Given the description of an element on the screen output the (x, y) to click on. 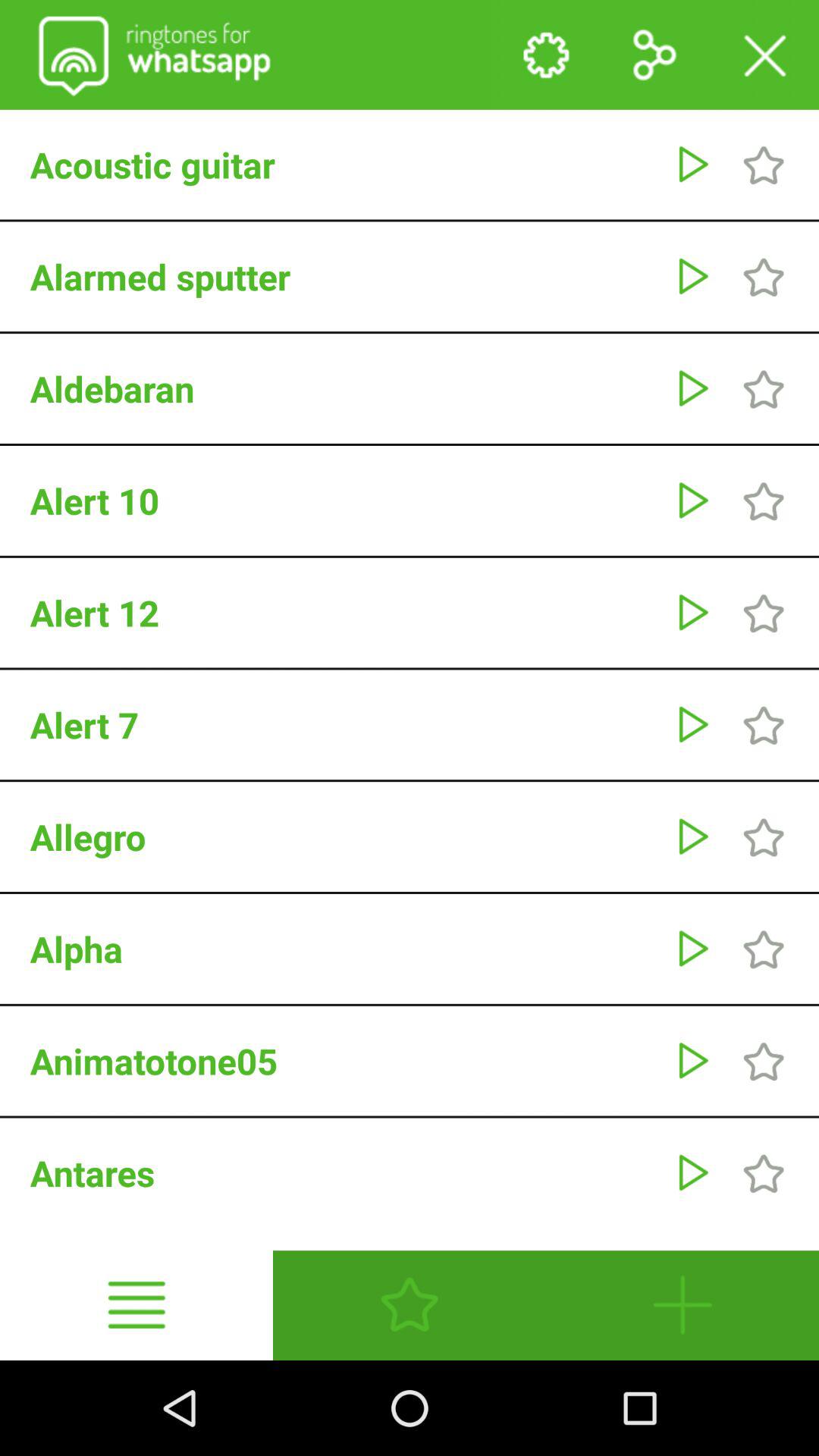
flip until the alpha app (344, 948)
